Given the description of an element on the screen output the (x, y) to click on. 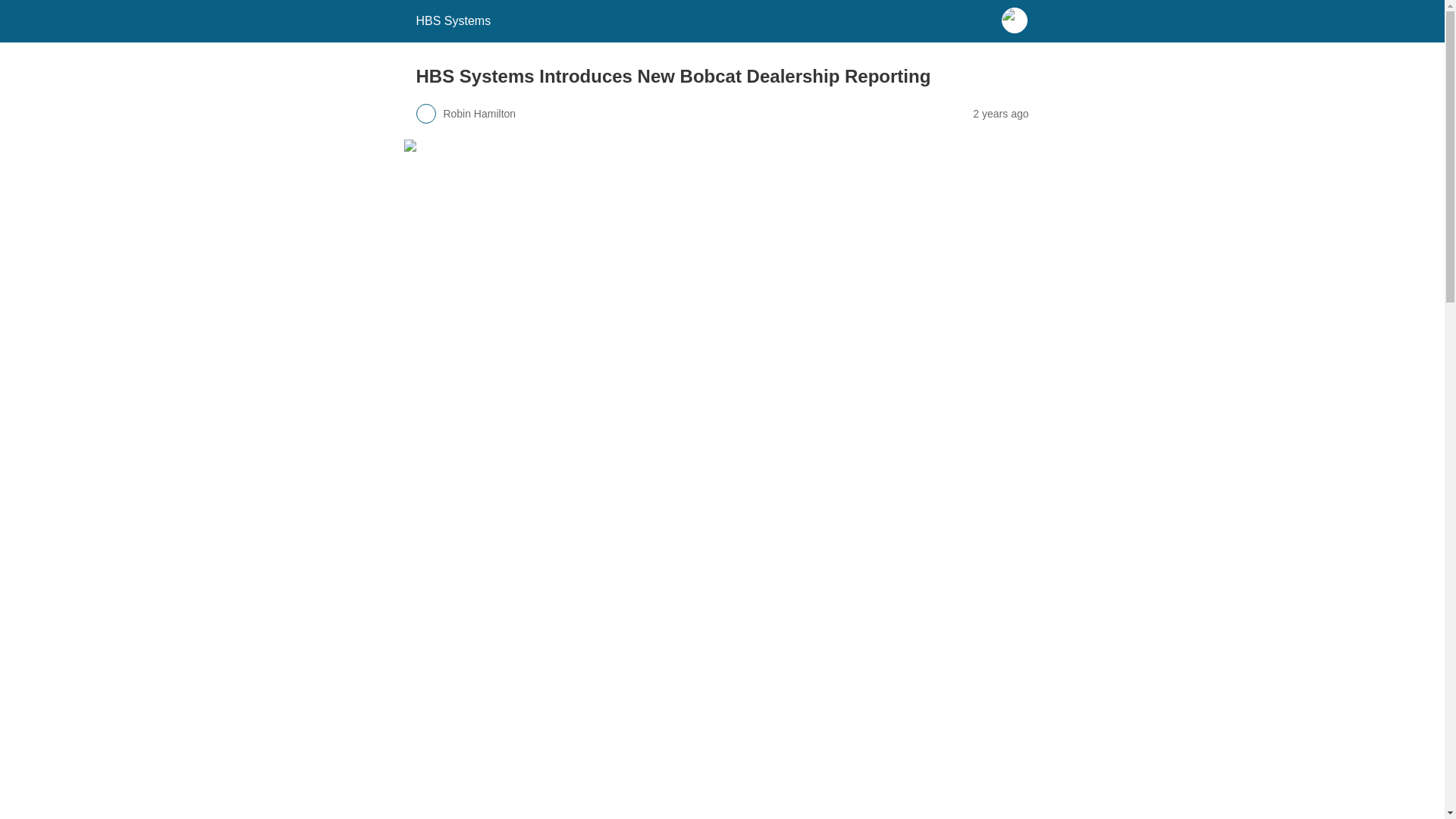
HBS Systems (452, 20)
